Given the description of an element on the screen output the (x, y) to click on. 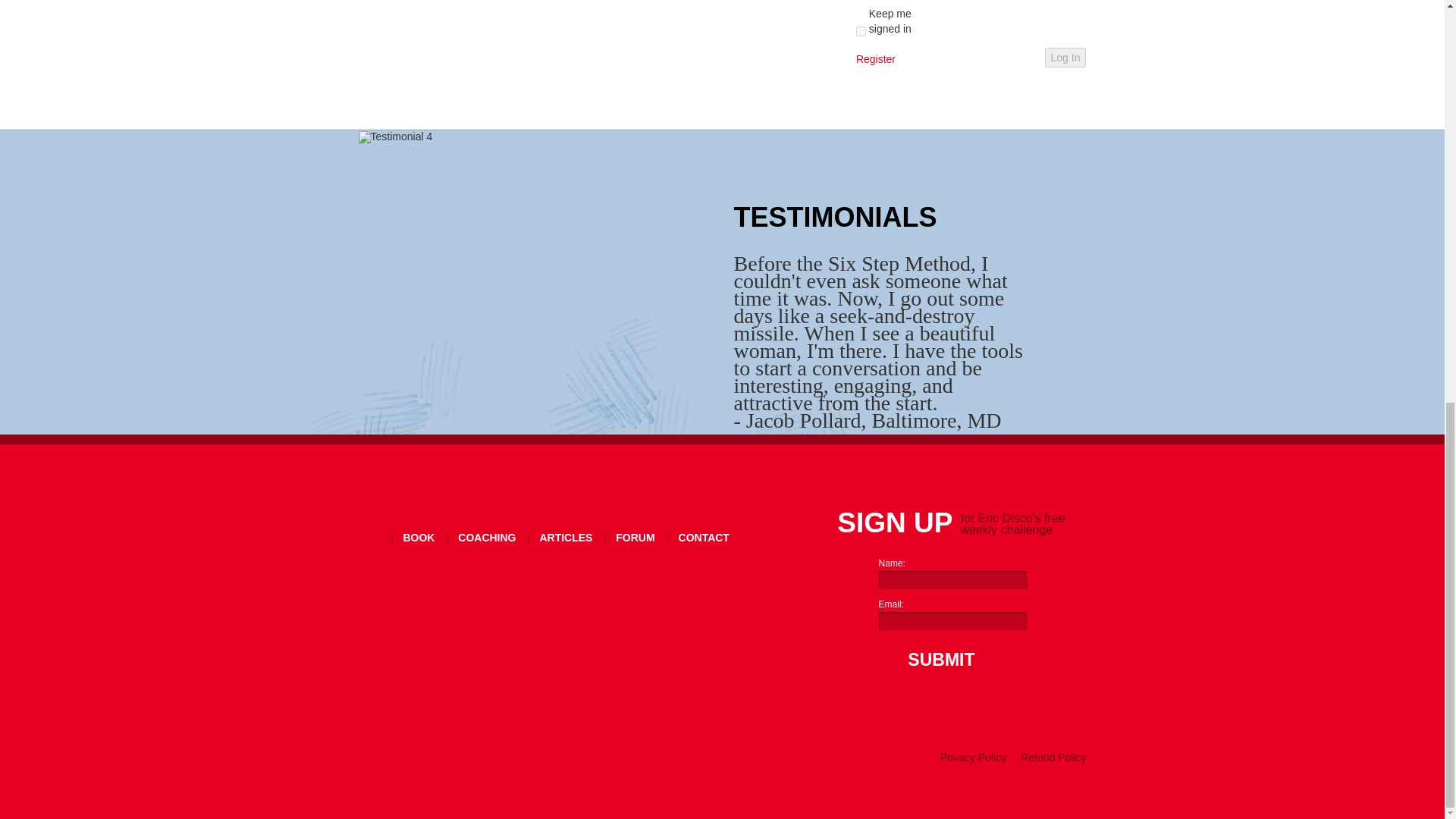
FORUM (634, 537)
Register (875, 58)
Log In (1065, 57)
ARTICLES (565, 537)
Register (875, 58)
COACHING (486, 537)
CONTACT (703, 537)
Submit (936, 659)
Submit (936, 659)
forever (861, 31)
BOOK (418, 537)
